Given the description of an element on the screen output the (x, y) to click on. 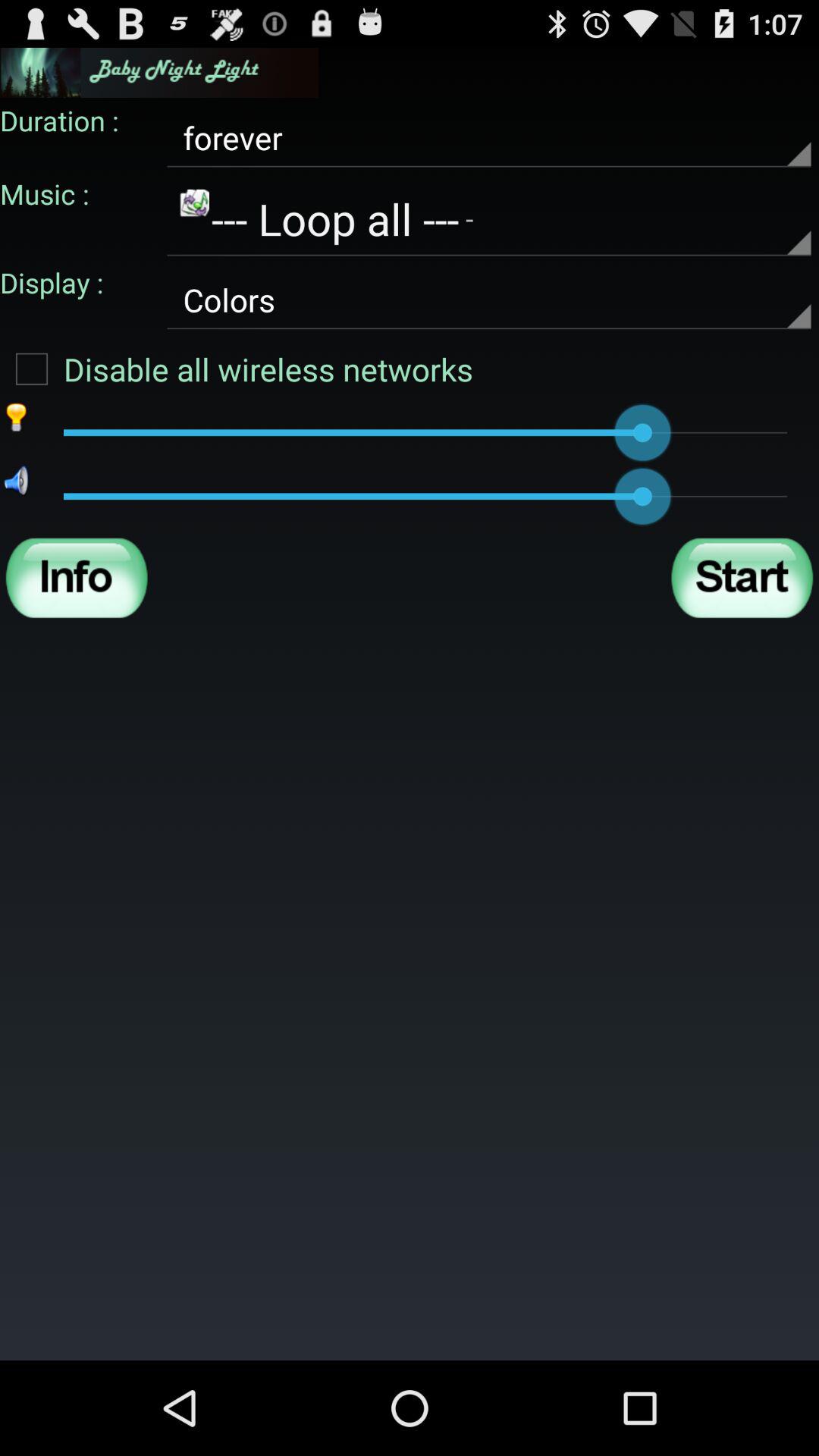
turn off the disable all wireless item (236, 368)
